Given the description of an element on the screen output the (x, y) to click on. 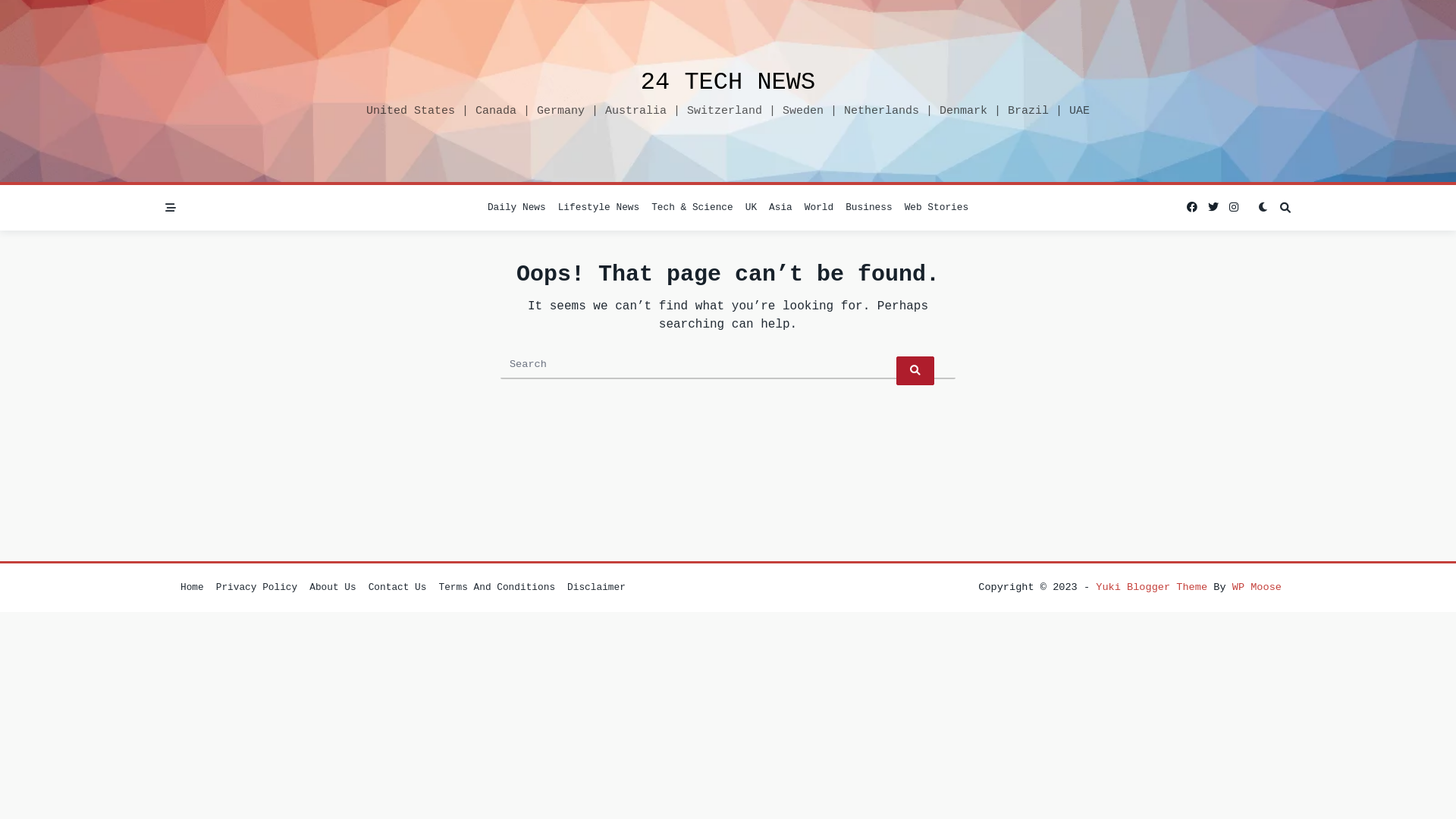
Daily News Element type: text (516, 207)
Asia Element type: text (780, 207)
Lifestyle News Element type: text (599, 207)
Terms And Conditions Element type: text (496, 587)
About Us Element type: text (332, 587)
24 TECH NEWS Element type: text (727, 82)
Disclaimer Element type: text (596, 587)
Yuki Blogger Theme Element type: text (1151, 587)
UK Element type: text (750, 207)
WP Moose Element type: text (1256, 587)
Web Stories Element type: text (936, 207)
Tech & Science Element type: text (692, 207)
Business Element type: text (868, 207)
World Element type: text (818, 207)
Contact Us Element type: text (397, 587)
Home Element type: text (192, 587)
Privacy Policy Element type: text (257, 587)
